Given the description of an element on the screen output the (x, y) to click on. 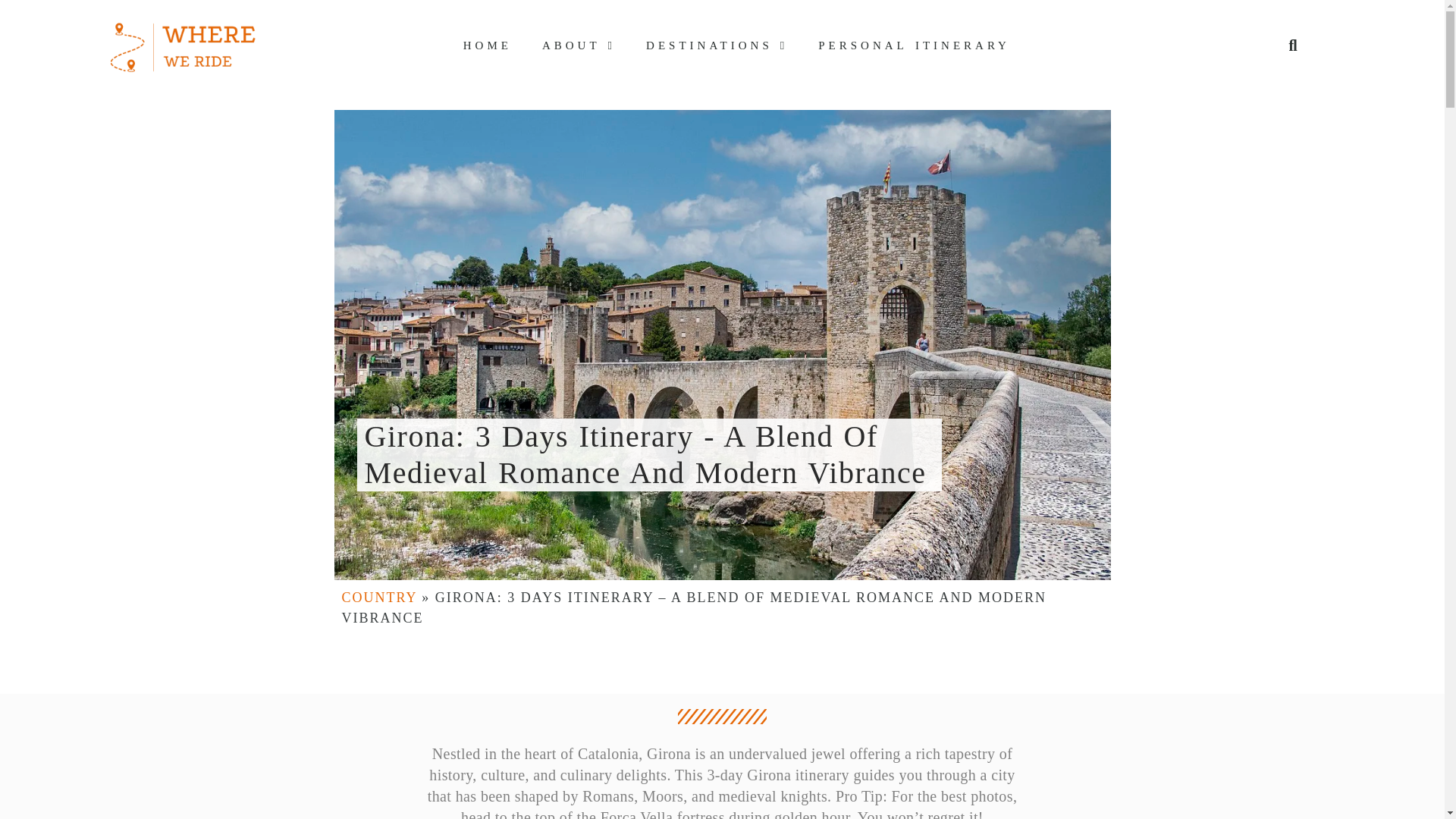
DESTINATIONS (716, 45)
HOME (487, 45)
PERSONAL ITINERARY (914, 45)
ABOUT (578, 45)
COUNTRY (378, 597)
